Given the description of an element on the screen output the (x, y) to click on. 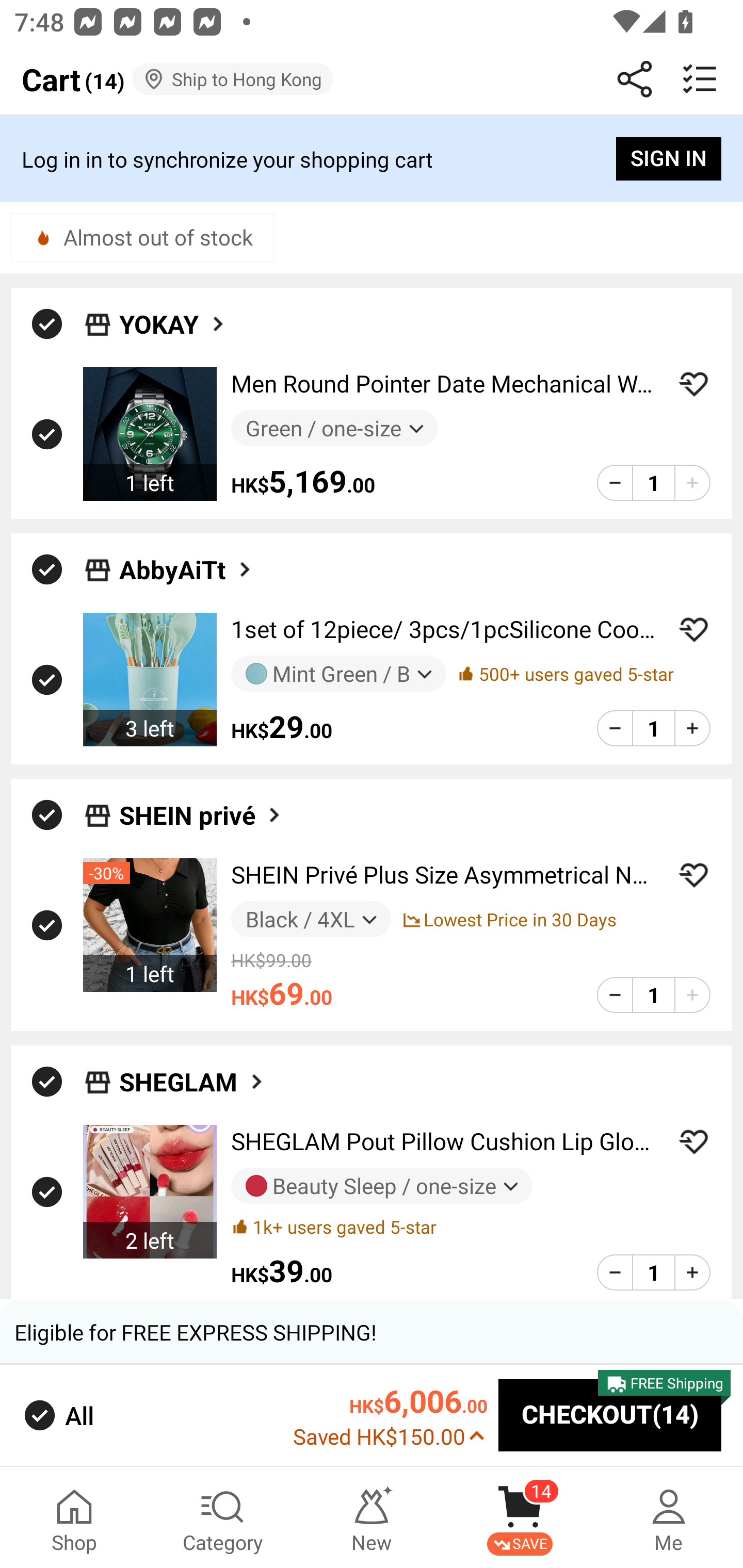
Cart (14) Ship to Hong Kong Share batch delete (371, 79)
Share (634, 79)
batch delete (699, 79)
Ship to Hong Kong (232, 78)
SIGN IN (668, 158)
Almost out of stock (142, 237)
YOKAY (173, 323)
ADD TO WISHLIST (693, 383)
Green / one-size (334, 428)
product quantity minus 1 (614, 482)
1 edit product quantity (653, 482)
product quantity add 1 (692, 482)
AbbyAiTt (186, 568)
ADD TO WISHLIST (693, 629)
 Mint Green / B (338, 673)
product quantity minus 1 (614, 728)
1 edit product quantity (653, 728)
product quantity add 1 (692, 728)
SHEIN privé (201, 815)
ADD TO WISHLIST (693, 874)
Black / 4XL (310, 919)
product quantity minus 1 (614, 994)
1 edit product quantity (653, 994)
product quantity add 1 (692, 994)
SHEGLAM (192, 1081)
ADD TO WISHLIST (693, 1141)
 Beauty Sleep / one-size (381, 1186)
product quantity minus 1 (614, 1272)
1 edit product quantity (653, 1272)
product quantity add 1 (692, 1272)
Eligible for FREE EXPRESS SHIPPING! (371, 1331)
CHECKOUT(14) (609, 1415)
HK$6,006.00 Saved HK$150.00 (389, 1414)
All (57, 1415)
Shop (74, 1517)
Category (222, 1517)
New (371, 1517)
